Given the description of an element on the screen output the (x, y) to click on. 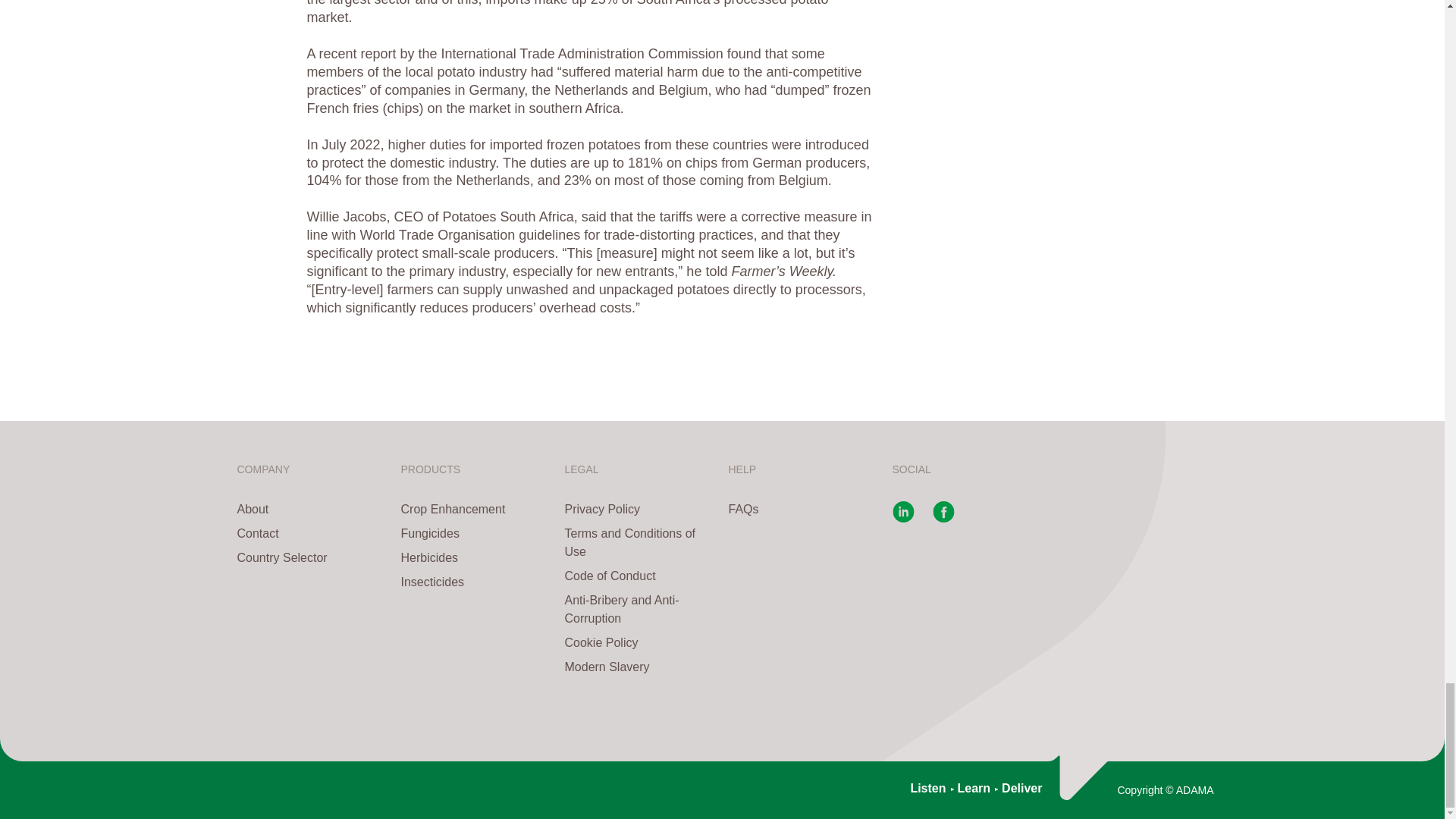
Anti-Bribery and Anti-Corruption (640, 609)
About (311, 509)
Insecticides (475, 582)
FAQs (803, 509)
Fungicides (475, 533)
Terms and Conditions of Use (640, 542)
Facebook (944, 517)
Privacy Policy (640, 509)
Herbicides (475, 557)
Contact (311, 533)
Modern Slavery (640, 667)
LinkedIn (902, 517)
Code of Conduct (640, 576)
Cookie Policy (640, 642)
LinkedIn (902, 517)
